Given the description of an element on the screen output the (x, y) to click on. 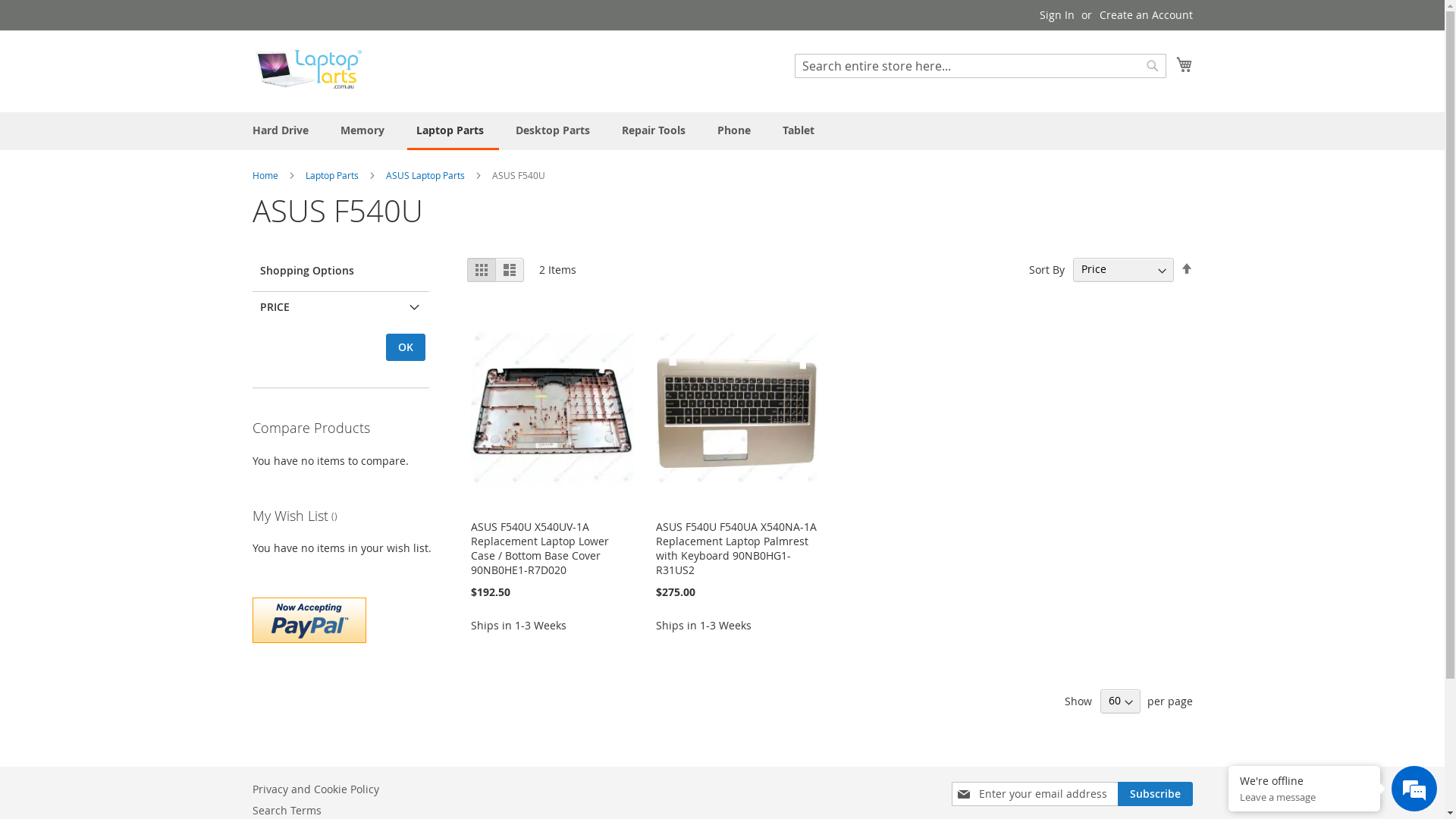
Additional Options Element type: hover (308, 620)
Add to Cart Element type: hover (290, 652)
ASUS Laptop Parts Element type: text (425, 175)
Search Element type: text (1152, 65)
Subscribe Element type: text (1154, 793)
Repair Tools Element type: text (656, 129)
Create an Account Element type: text (1145, 14)
Desktop Parts Element type: text (555, 129)
Set Descending Direction Element type: text (1185, 268)
Laptop Parts Australia Element type: hover (307, 70)
Sign In Element type: text (1055, 14)
Memory Element type: text (364, 129)
OK Element type: text (405, 346)
My Cart Element type: text (1183, 64)
Additional Options Element type: hover (308, 618)
Phone Element type: text (736, 129)
List Element type: text (509, 269)
Hard Drive Element type: text (282, 129)
Laptop Parts Element type: text (452, 131)
Tablet Element type: text (801, 129)
Privacy and Cookie Policy Element type: text (314, 788)
Skip to Content Element type: text (251, 6)
Laptop Parts Element type: text (332, 175)
Home Element type: text (265, 175)
